Given the description of an element on the screen output the (x, y) to click on. 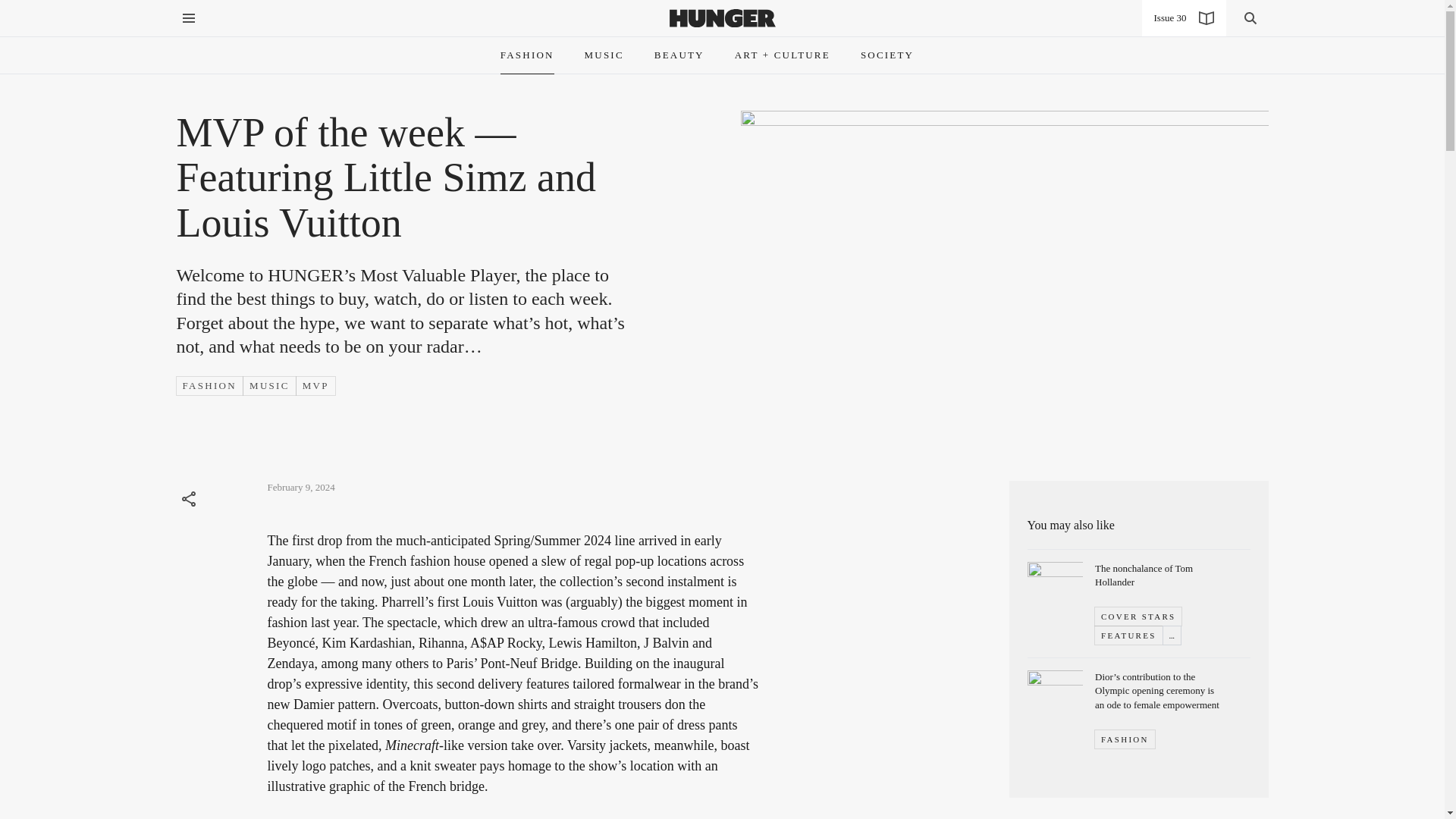
BEAUTY (678, 54)
FASHION (527, 54)
MVP (315, 385)
SOCIETY (887, 54)
FASHION (208, 385)
... (1170, 635)
COVER STARS (1137, 615)
The nonchalance of Tom Hollander (1143, 575)
MUSIC (268, 385)
Issue 30 (1183, 18)
FEATURES (1128, 634)
FASHION (1124, 738)
MUSIC (604, 54)
